Given the description of an element on the screen output the (x, y) to click on. 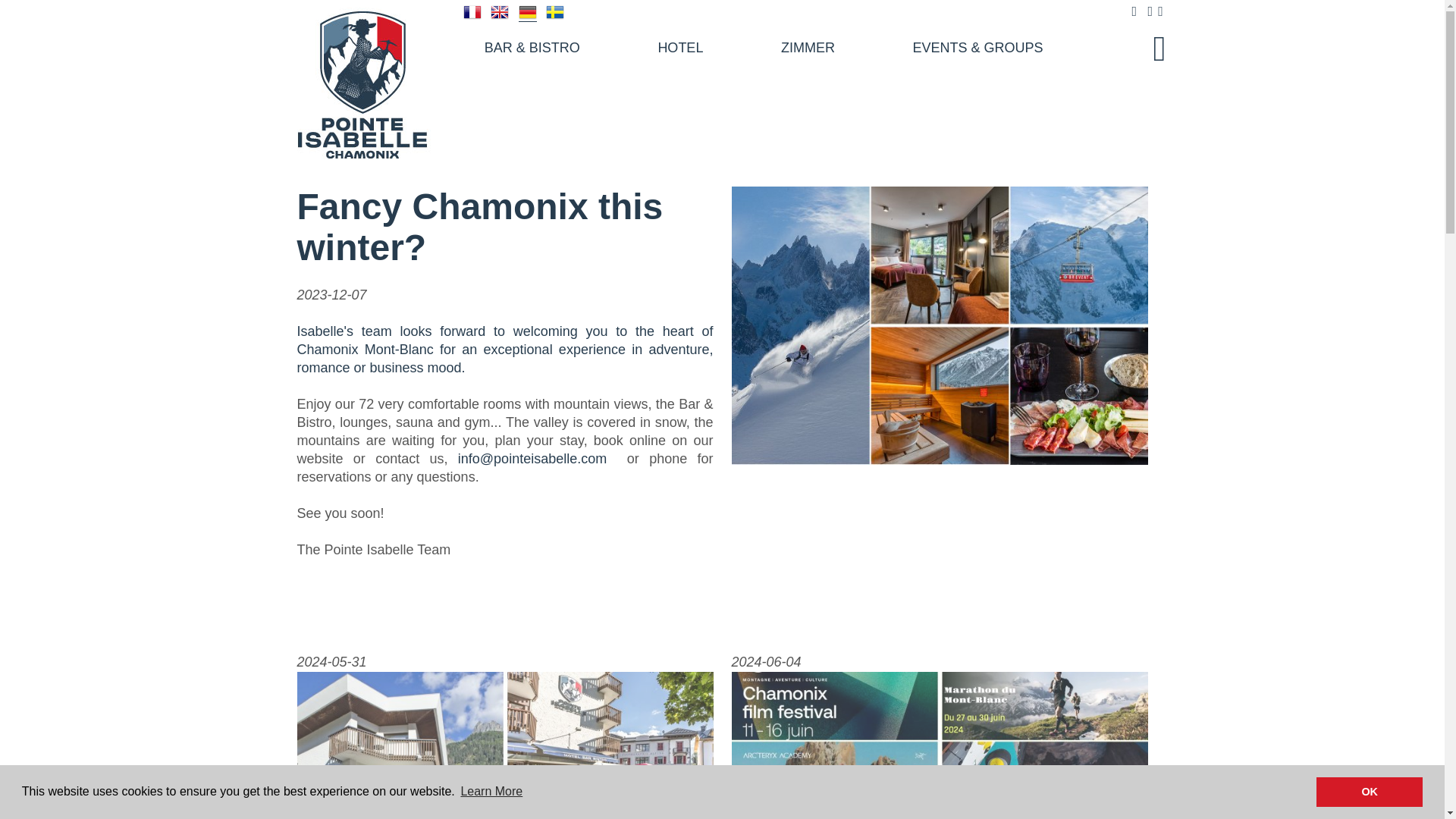
OK (1369, 791)
Learn More (491, 791)
